Given the description of an element on the screen output the (x, y) to click on. 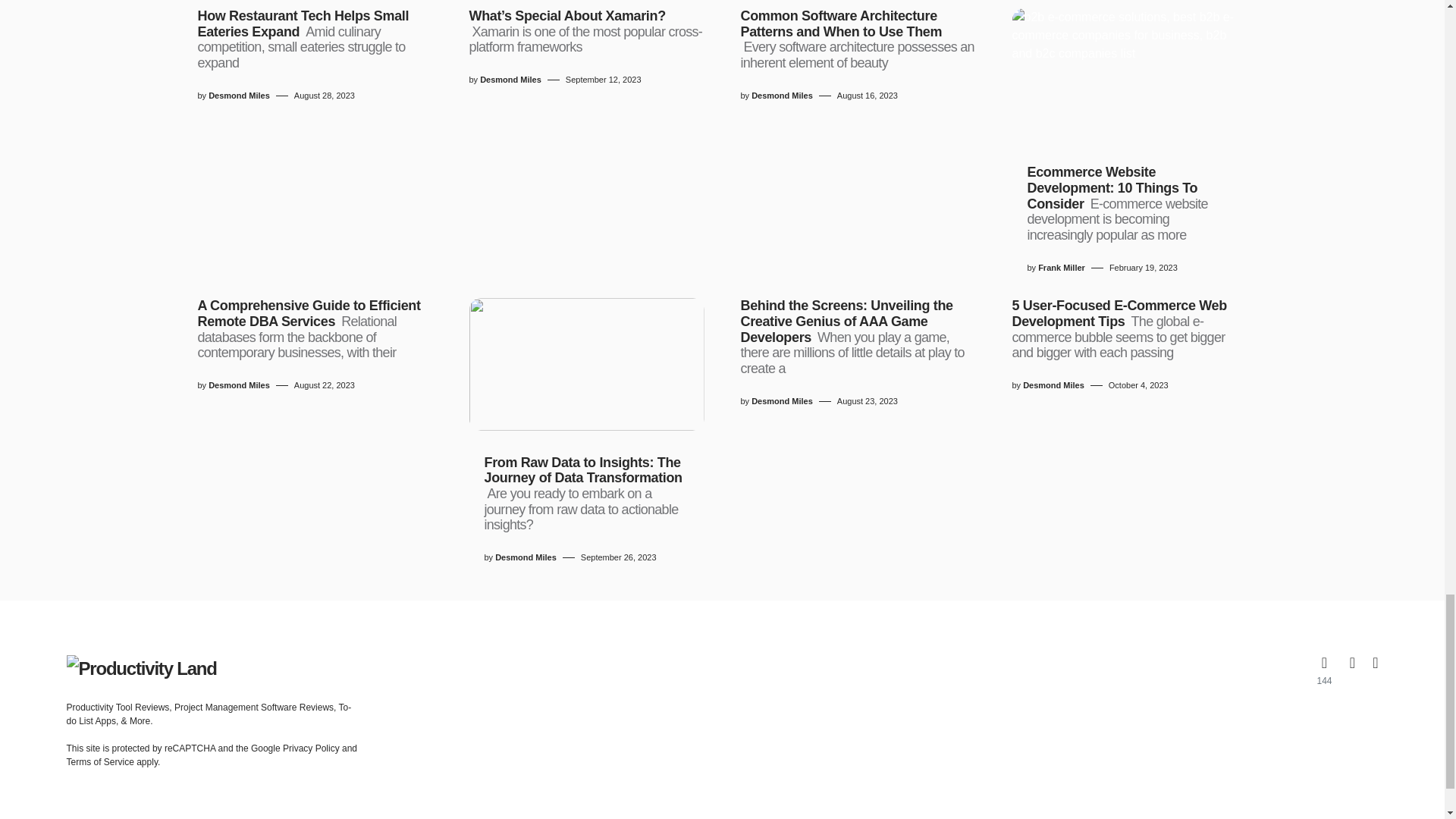
View all posts by Desmond Miles (781, 400)
View all posts by Frank Miller (1061, 267)
View all posts by Desmond Miles (238, 95)
View all posts by Desmond Miles (238, 385)
View all posts by Desmond Miles (510, 79)
View all posts by Desmond Miles (781, 95)
View all posts by Desmond Miles (1053, 385)
View all posts by Desmond Miles (525, 557)
